Given the description of an element on the screen output the (x, y) to click on. 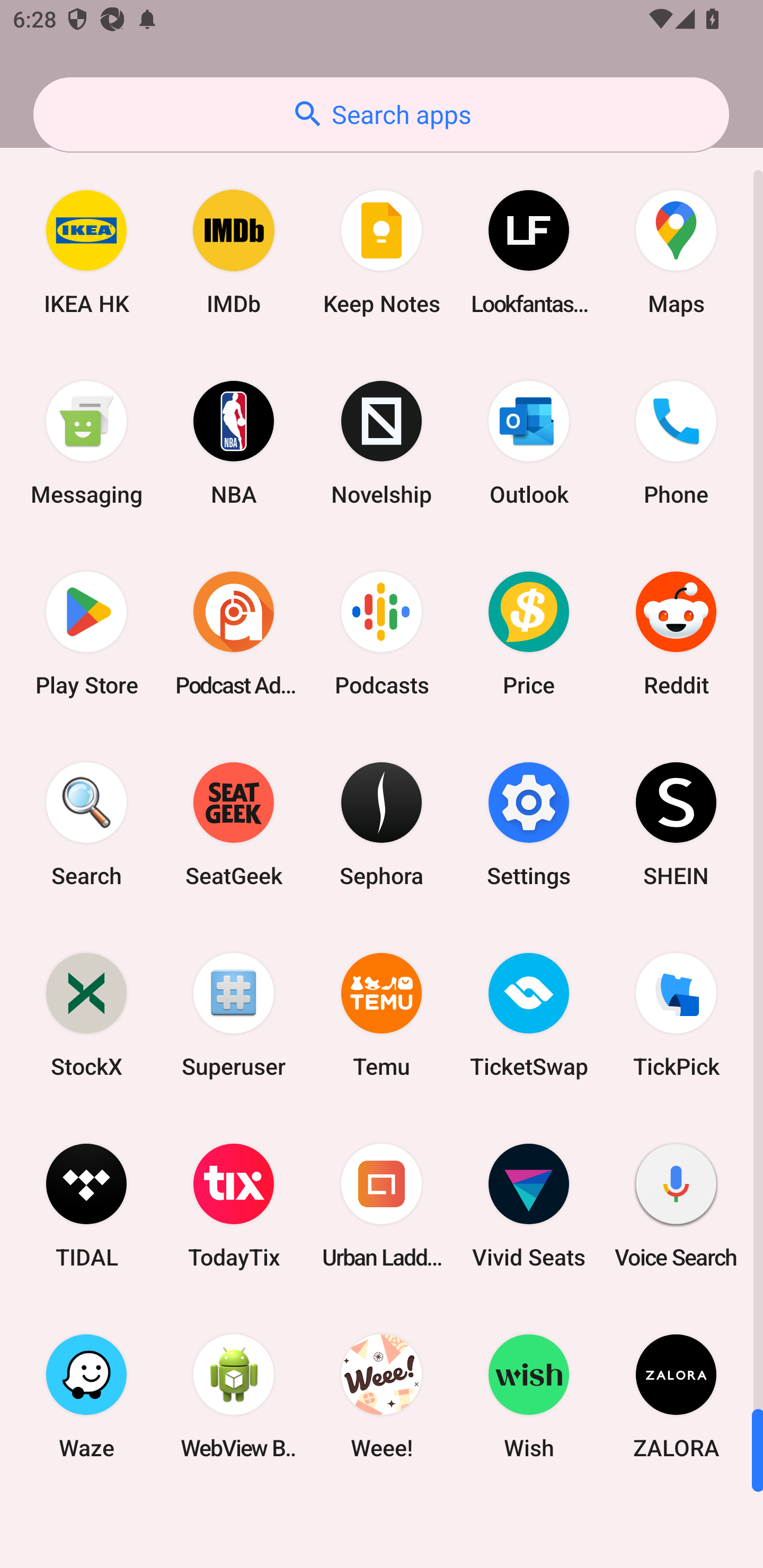
  Search apps (381, 114)
IKEA HK (86, 252)
IMDb (233, 252)
Keep Notes (381, 252)
Lookfantastic (528, 252)
Maps (676, 252)
Messaging (86, 442)
NBA (233, 442)
Novelship (381, 442)
Outlook (528, 442)
Phone (676, 442)
Play Store (86, 633)
Podcast Addict (233, 633)
Podcasts (381, 633)
Price (528, 633)
Reddit (676, 633)
Search (86, 823)
SeatGeek (233, 823)
Sephora (381, 823)
Settings (528, 823)
SHEIN (676, 823)
StockX (86, 1014)
Superuser (233, 1014)
Temu (381, 1014)
TicketSwap (528, 1014)
TickPick (676, 1014)
TIDAL (86, 1205)
TodayTix (233, 1205)
Urban Ladder (381, 1205)
Vivid Seats (528, 1205)
Voice Search (676, 1205)
Waze (86, 1396)
WebView Browser Tester (233, 1396)
Weee! (381, 1396)
Wish (528, 1396)
ZALORA (676, 1396)
